Given the description of an element on the screen output the (x, y) to click on. 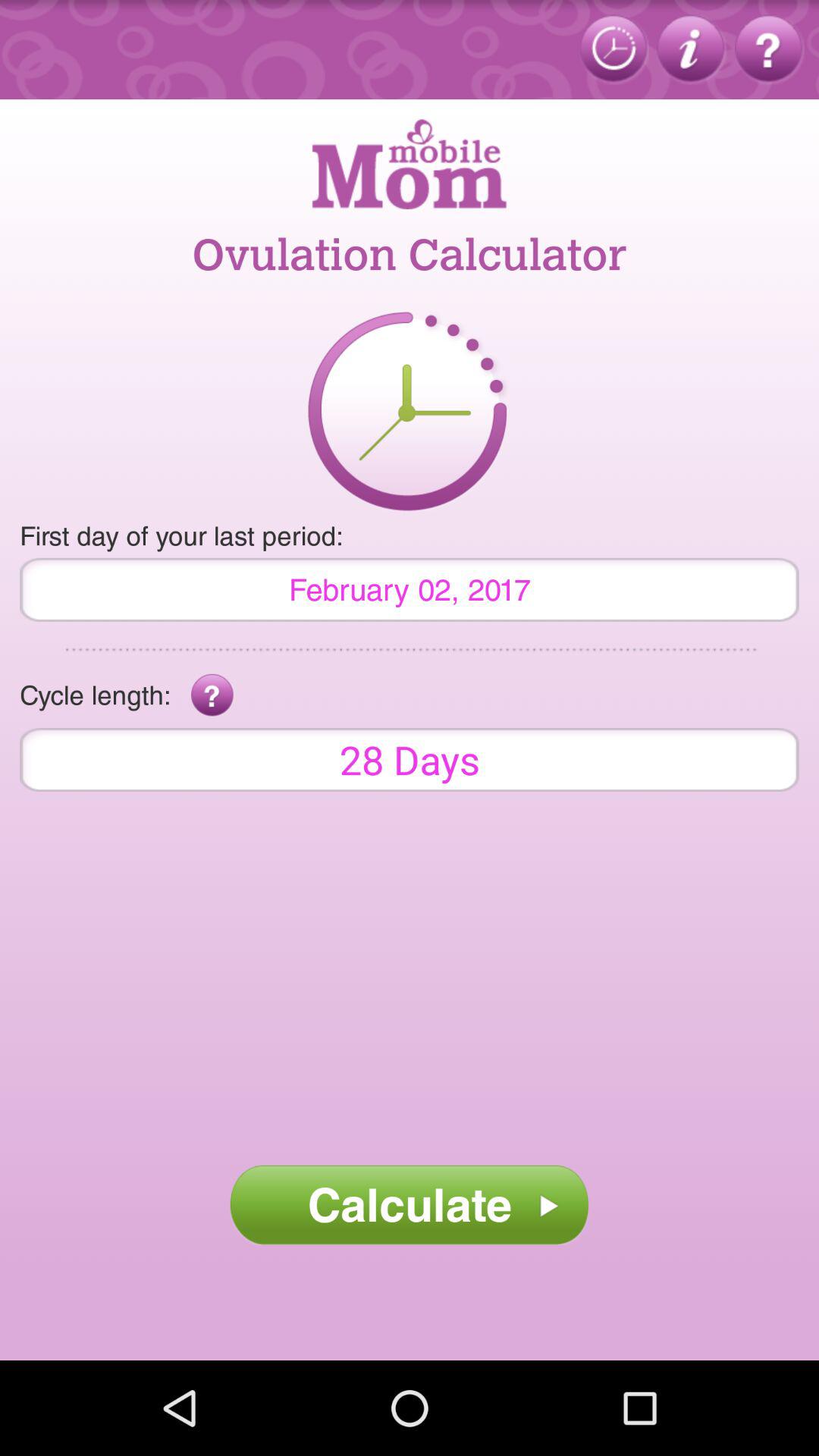
choose the february 02, 2017 item (409, 589)
